Given the description of an element on the screen output the (x, y) to click on. 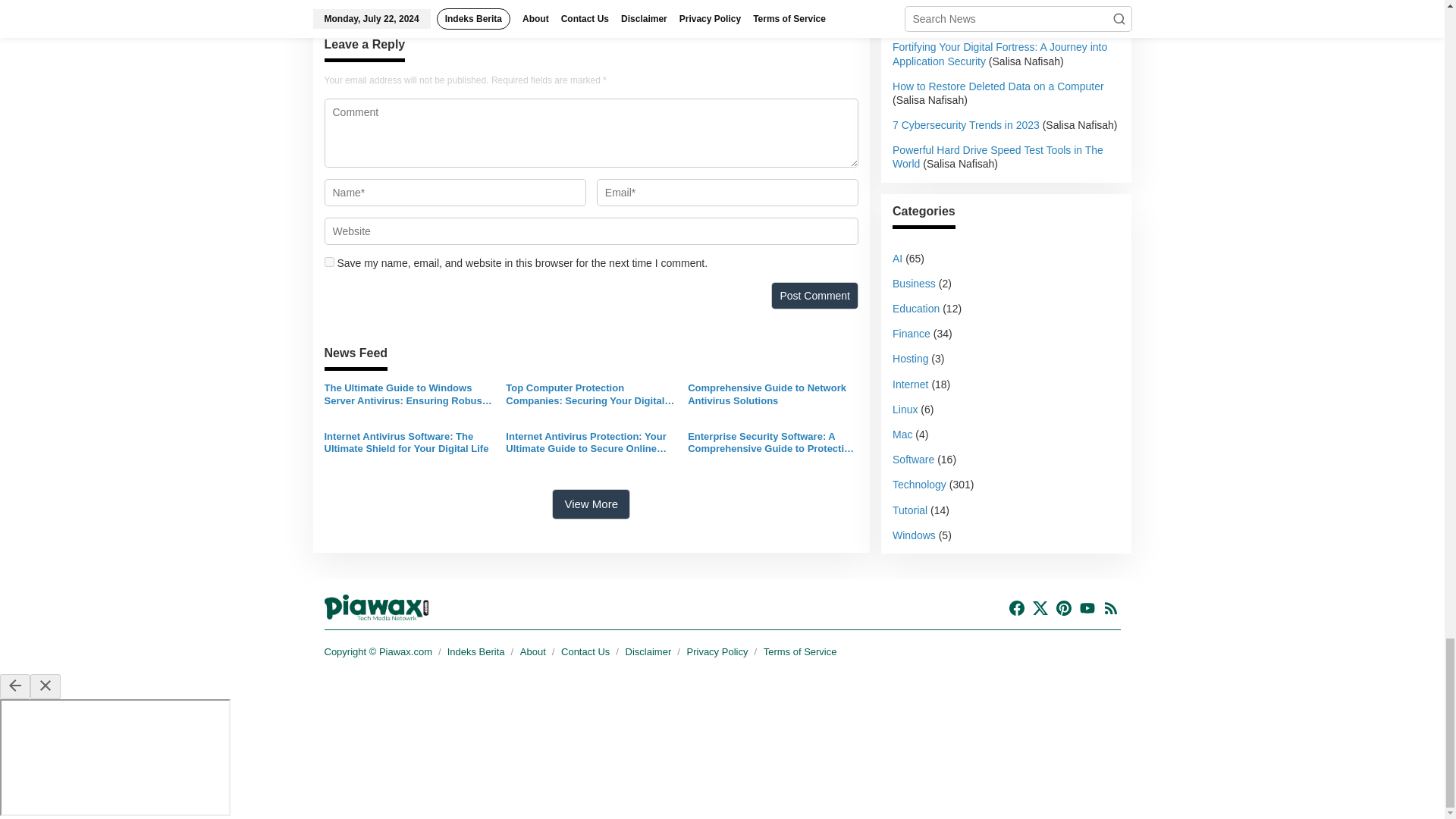
yes (329, 261)
Post Comment (815, 295)
